Given the description of an element on the screen output the (x, y) to click on. 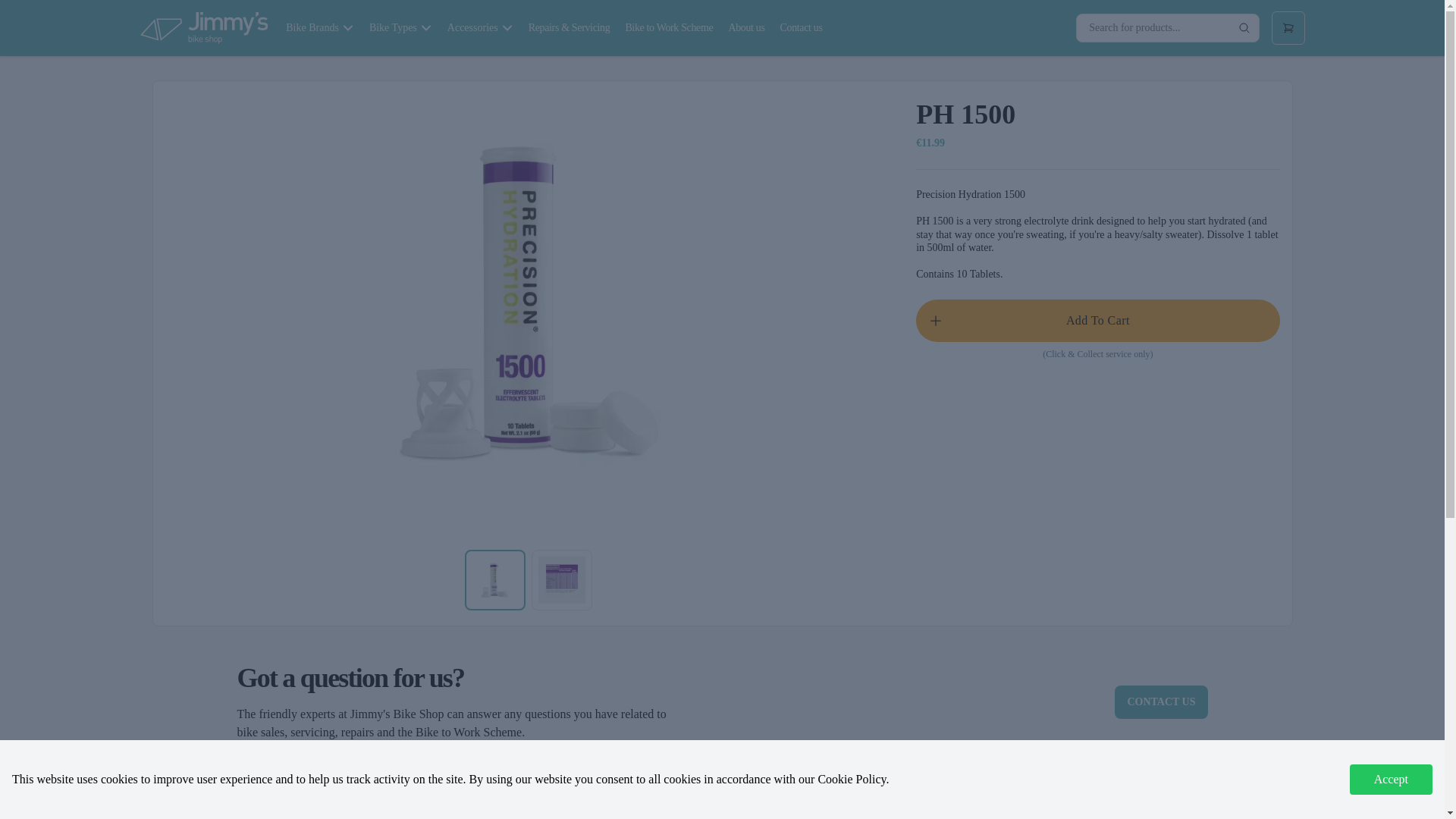
Bike to Work Scheme (668, 28)
CONTACT US (1161, 702)
Add To Cart (1097, 319)
About us (746, 28)
Contact us (801, 28)
